Given the description of an element on the screen output the (x, y) to click on. 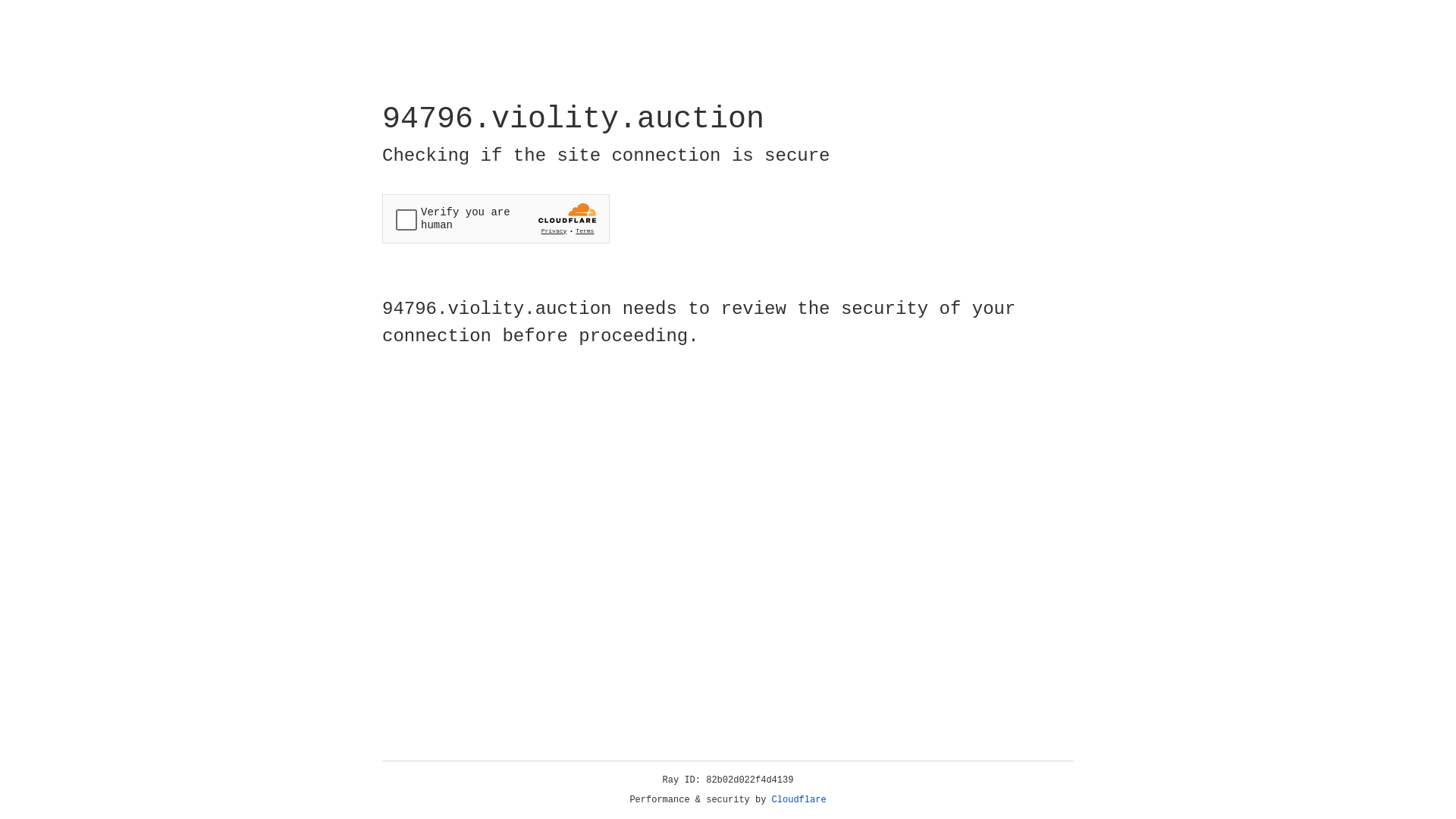
Widget containing a Cloudflare security challenge Element type: hover (495, 218)
Cloudflare Element type: text (798, 799)
